Given the description of an element on the screen output the (x, y) to click on. 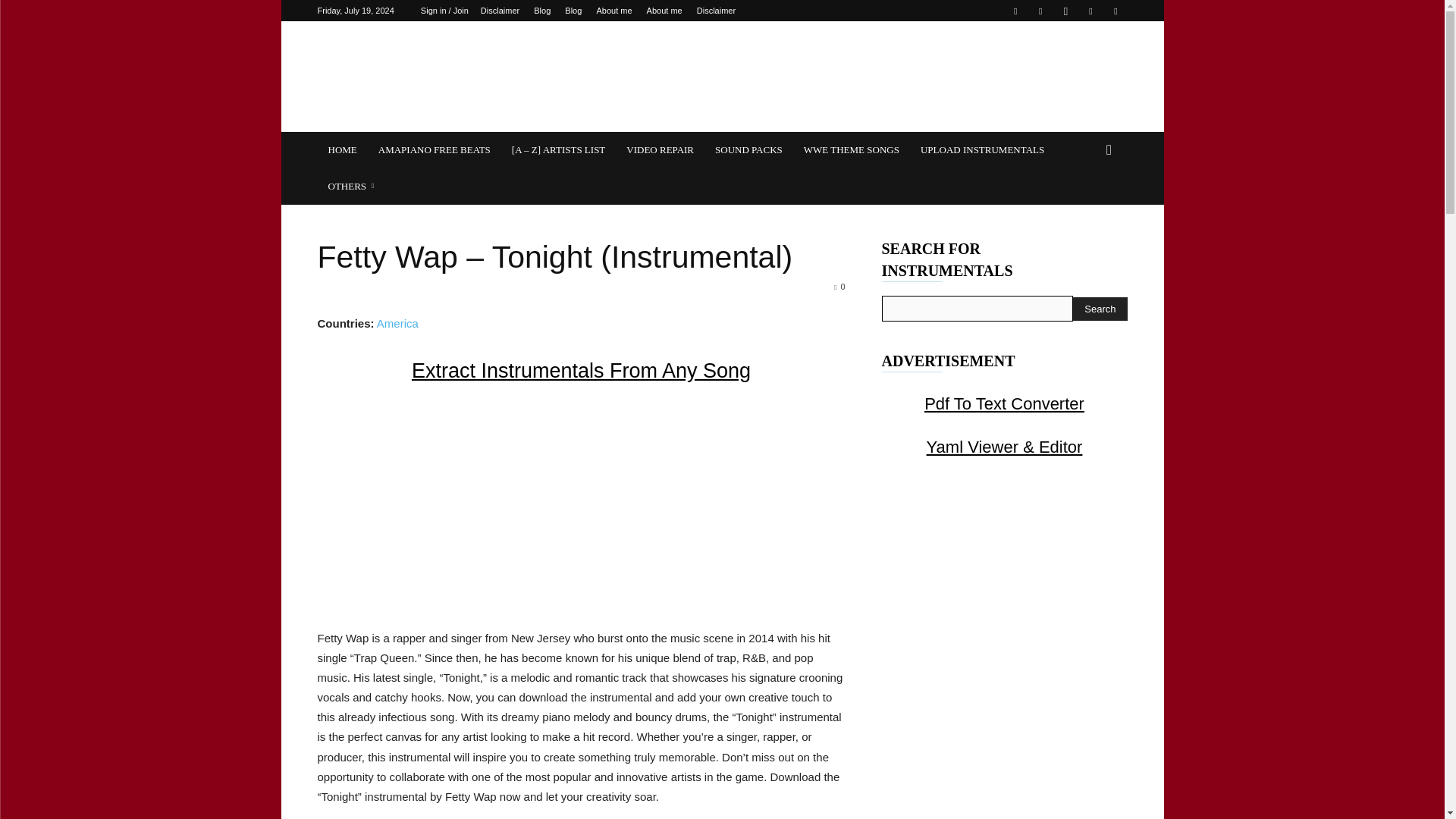
Advertisement (850, 76)
Youtube (1114, 10)
Disclaimer (716, 10)
About me (664, 10)
About me (613, 10)
Facebook (1015, 10)
Search (1099, 309)
Instagram (1065, 10)
Blog (542, 10)
Disclaimer (499, 10)
Blog (572, 10)
Advertisement (579, 506)
Twitter (1090, 10)
